Given the description of an element on the screen output the (x, y) to click on. 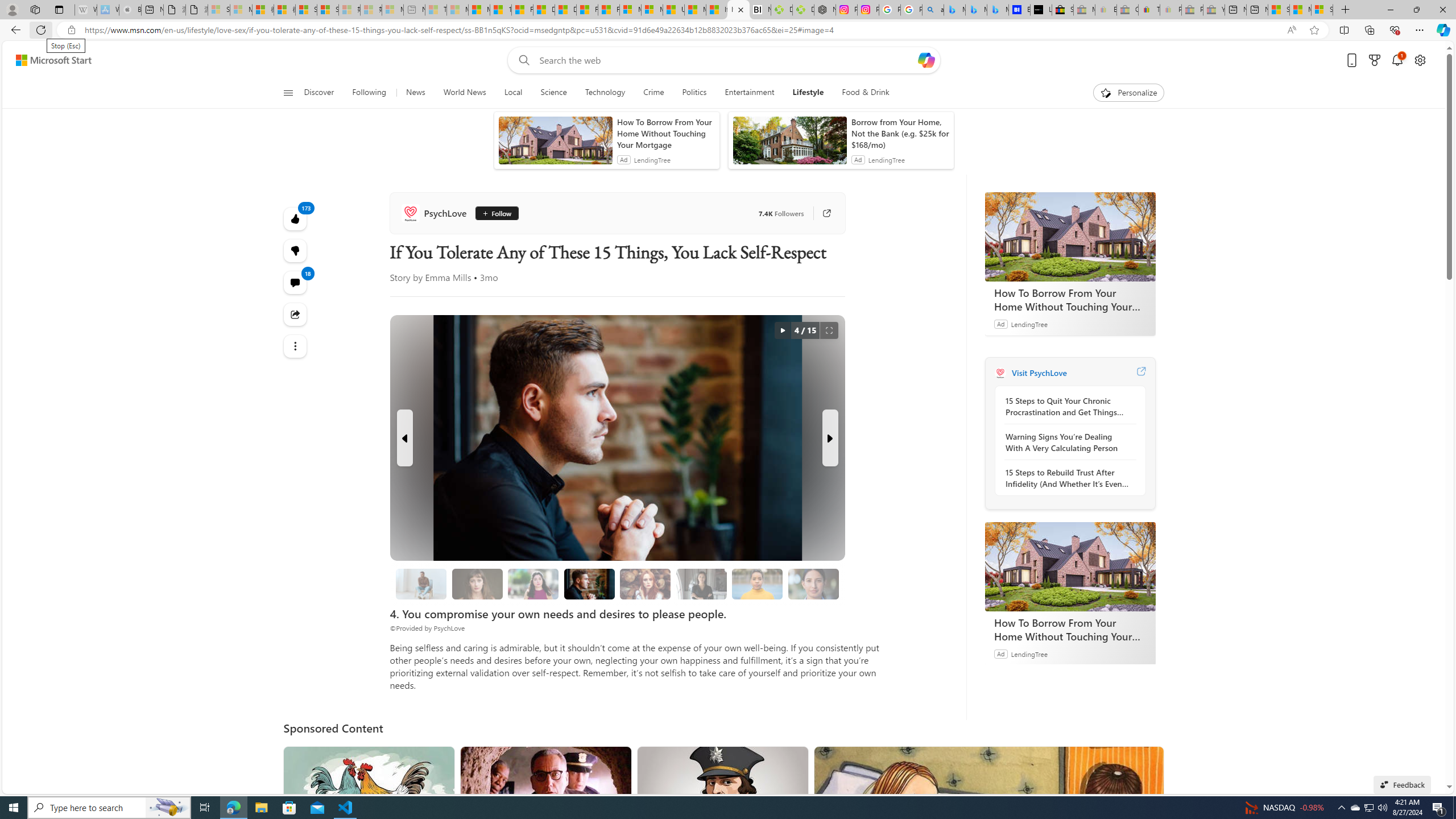
Selling on eBay | Electronics, Fashion, Home & Garden | eBay (1062, 9)
PsychLove (435, 212)
Top Stories - MSN - Sleeping (435, 9)
3. Put some thought into it. (421, 583)
Nvidia va a poner a prueba la paciencia de los inversores (760, 9)
